Given the description of an element on the screen output the (x, y) to click on. 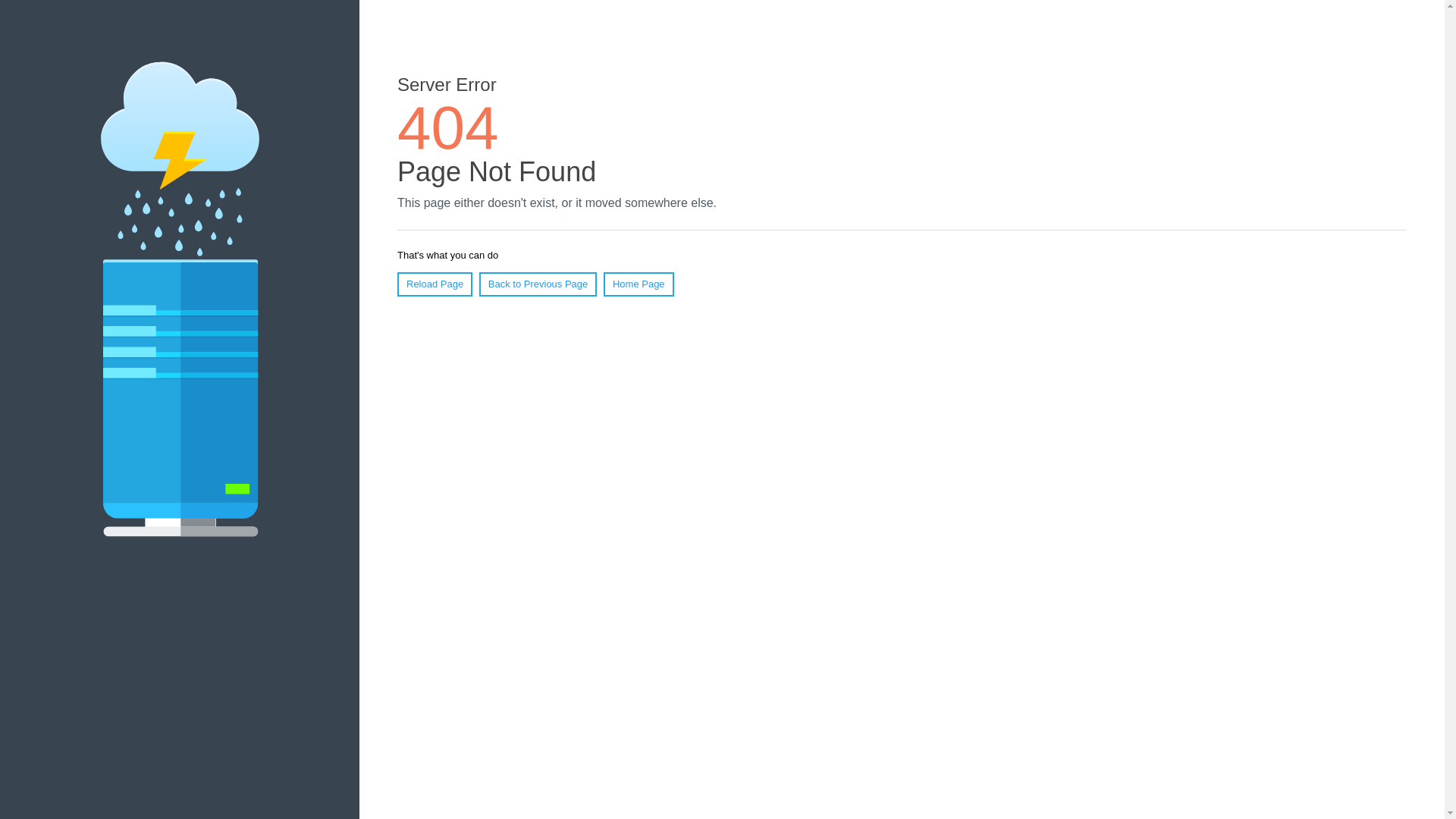
Home Page Element type: text (638, 284)
Back to Previous Page Element type: text (538, 284)
Reload Page Element type: text (434, 284)
